Given the description of an element on the screen output the (x, y) to click on. 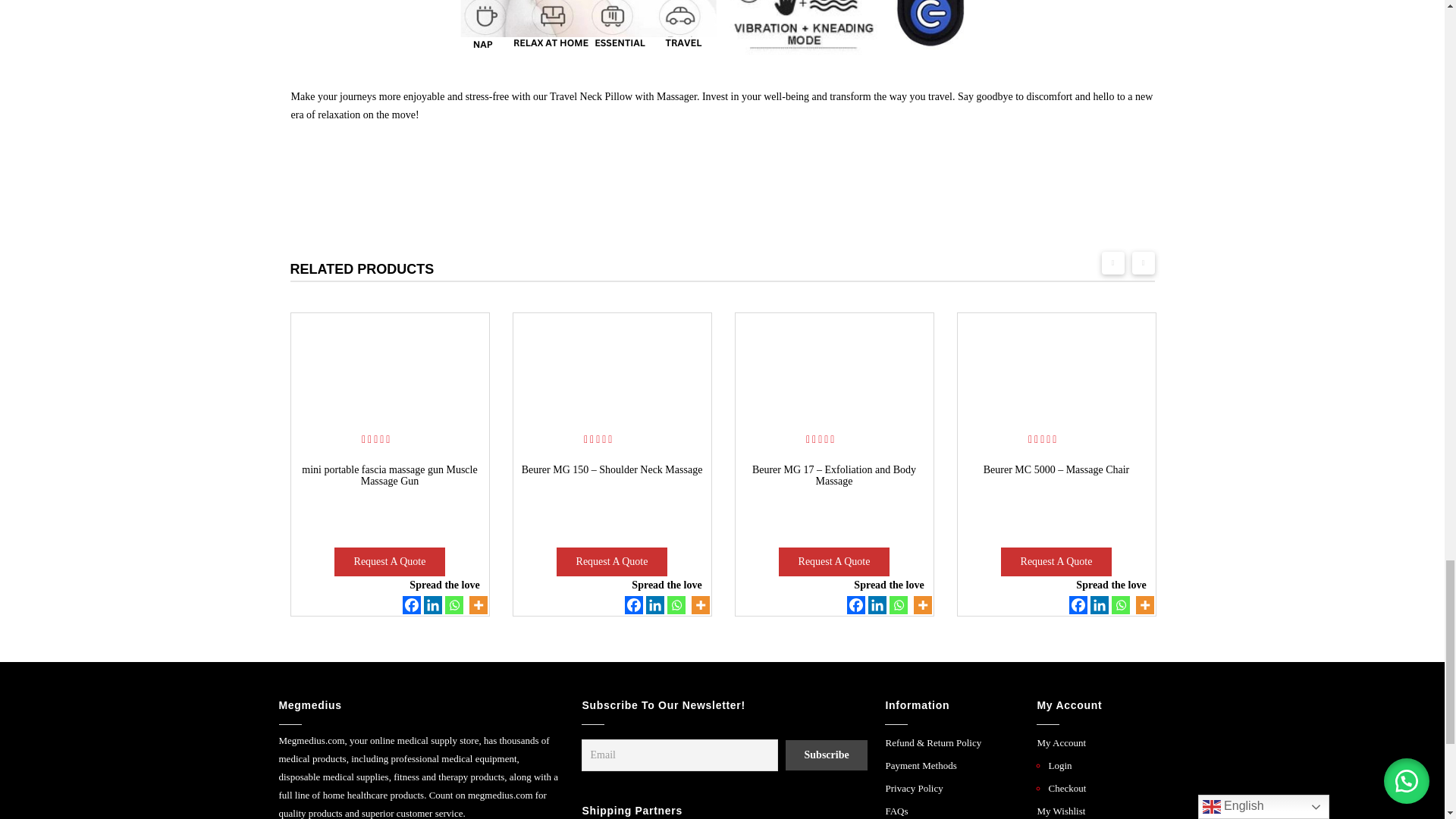
Subscribe (826, 755)
